Given the description of an element on the screen output the (x, y) to click on. 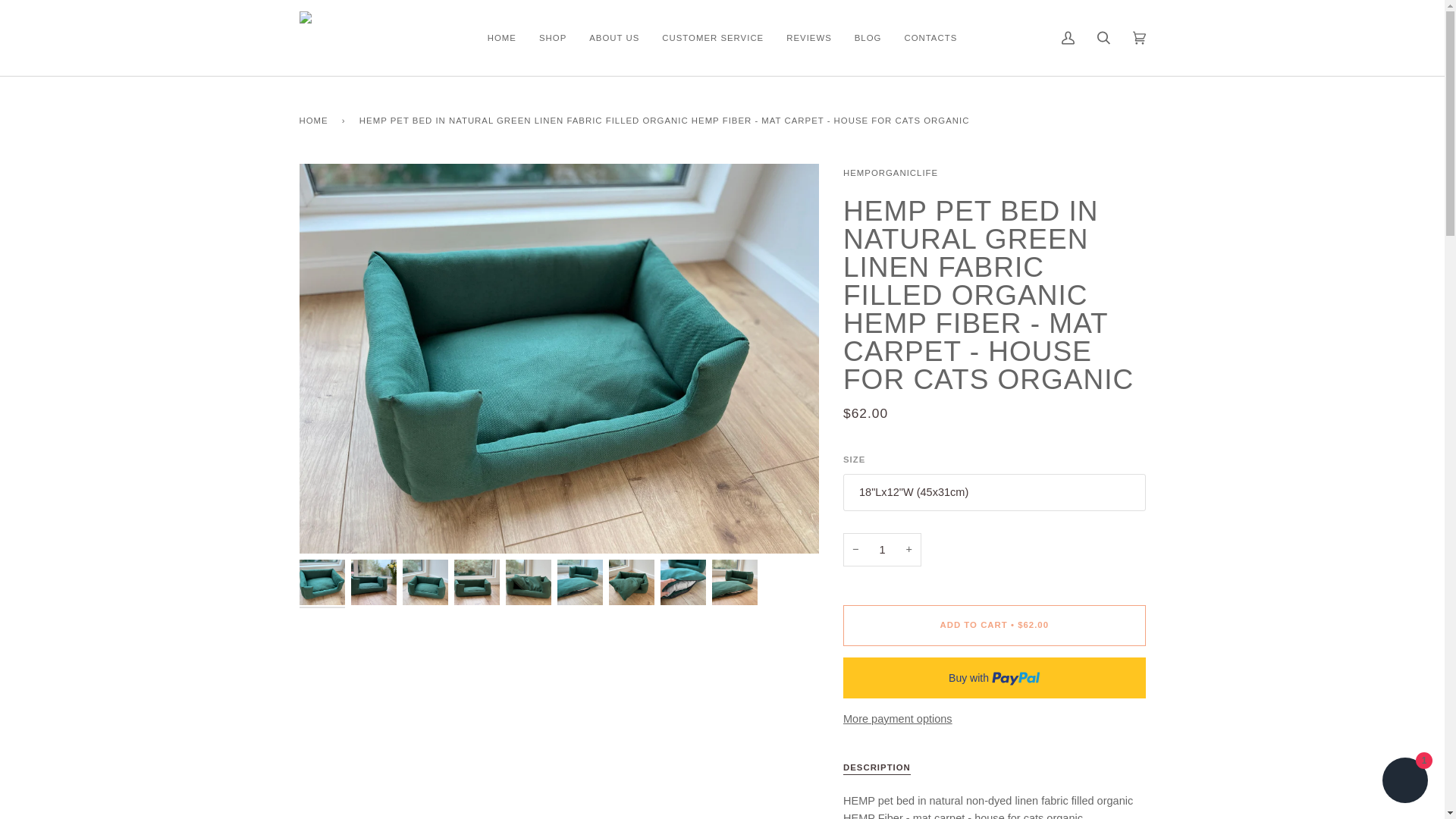
Back to the frontpage (315, 119)
CONTACTS (930, 38)
ABOUT US (614, 38)
CUSTOMER SERVICE (712, 38)
Shopify online store chat (1404, 781)
REVIEWS (808, 38)
1 (882, 550)
